Given the description of an element on the screen output the (x, y) to click on. 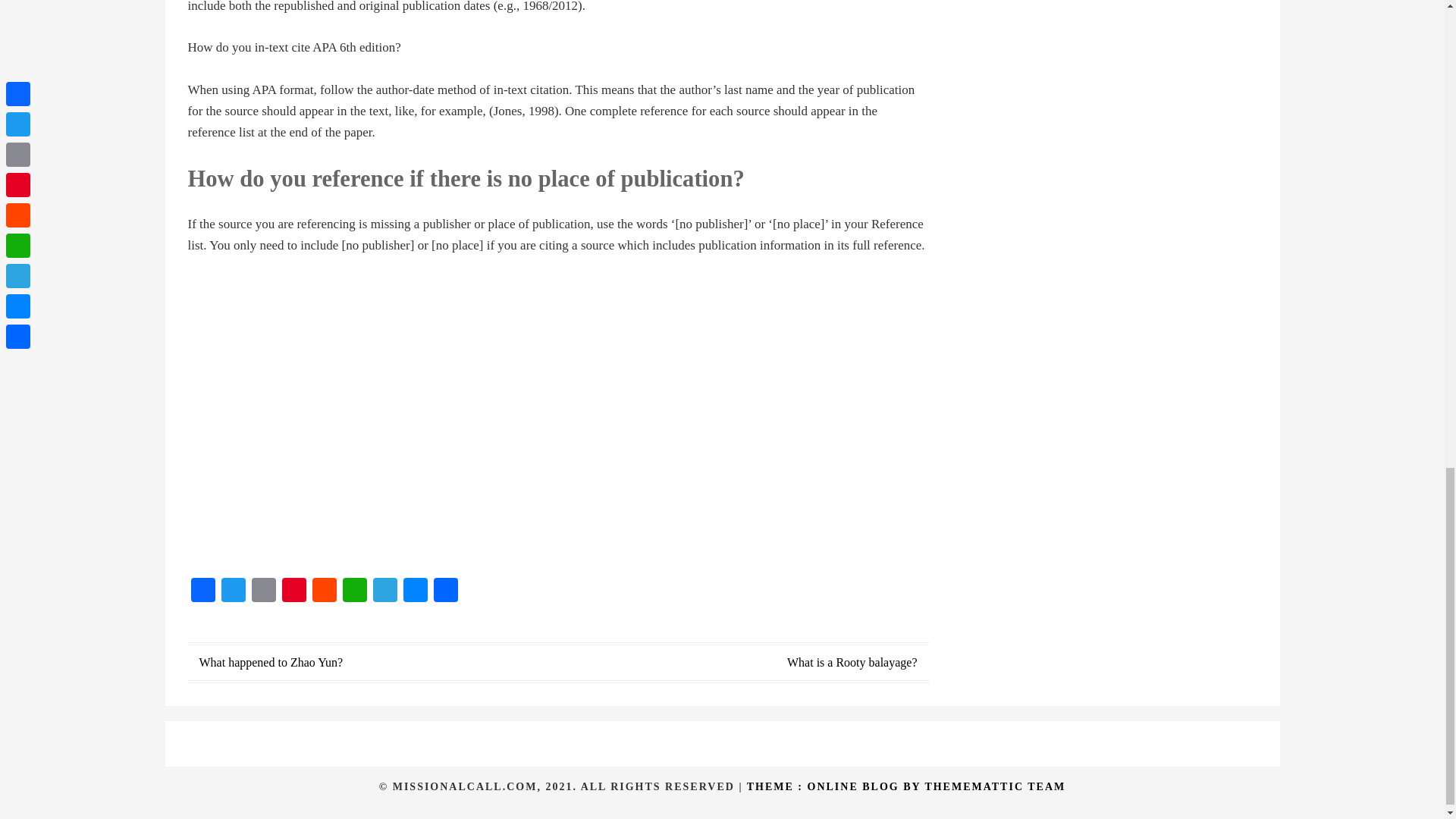
Facebook (202, 592)
Pinterest (293, 592)
Reddit (323, 592)
Facebook (202, 592)
Pinterest (293, 592)
What happened to Zhao Yun? (270, 662)
Messenger (415, 592)
Telegram (384, 592)
Email (263, 592)
Twitter (233, 592)
